Given the description of an element on the screen output the (x, y) to click on. 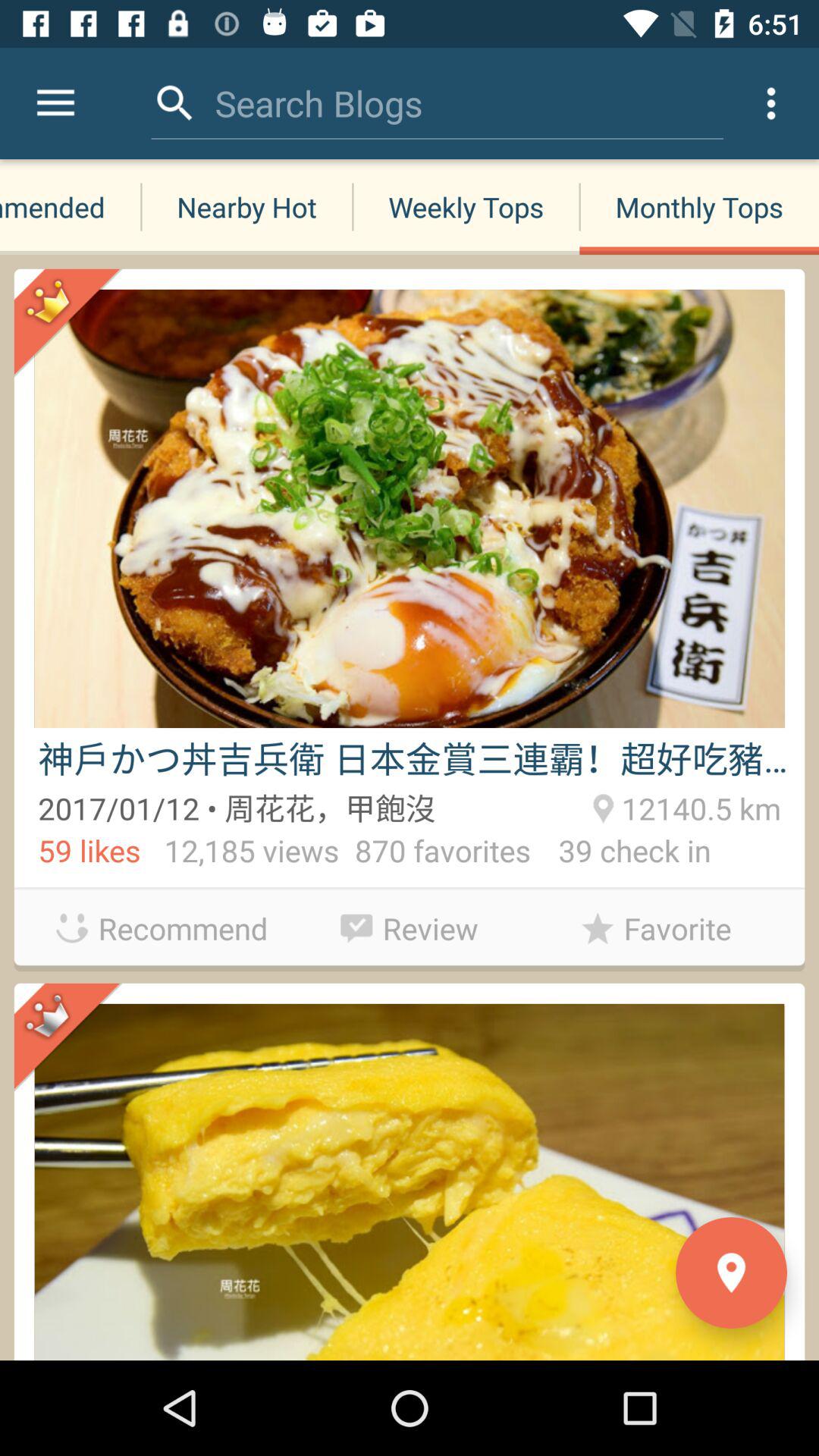
press icon to the left of nearby hot item (70, 206)
